Given the description of an element on the screen output the (x, y) to click on. 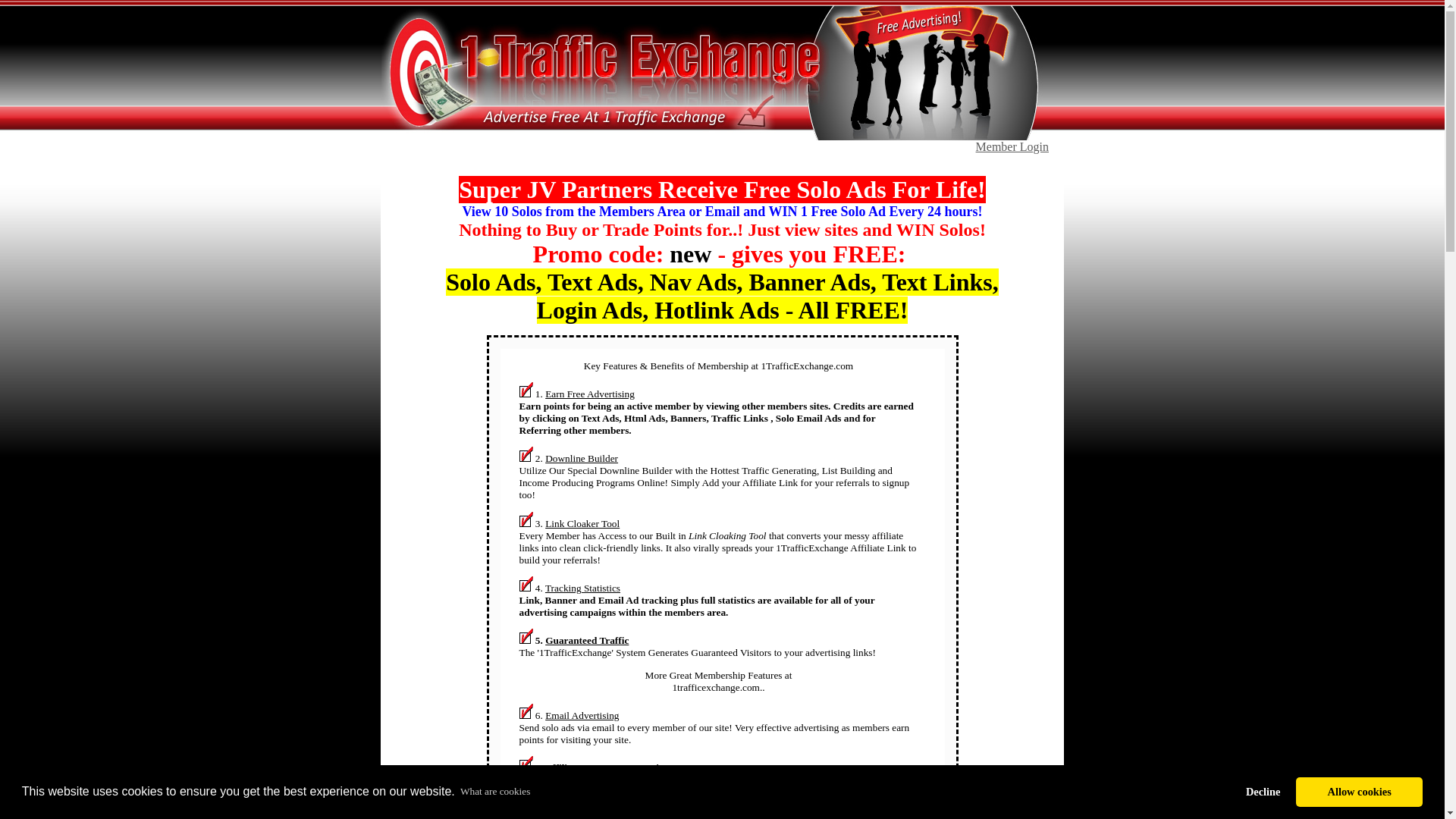
Decline Element type: text (1262, 791)
What are cookies Element type: text (495, 792)
Allow cookies Element type: text (1358, 791)
Member Login Element type: text (1011, 147)
